Given the description of an element on the screen output the (x, y) to click on. 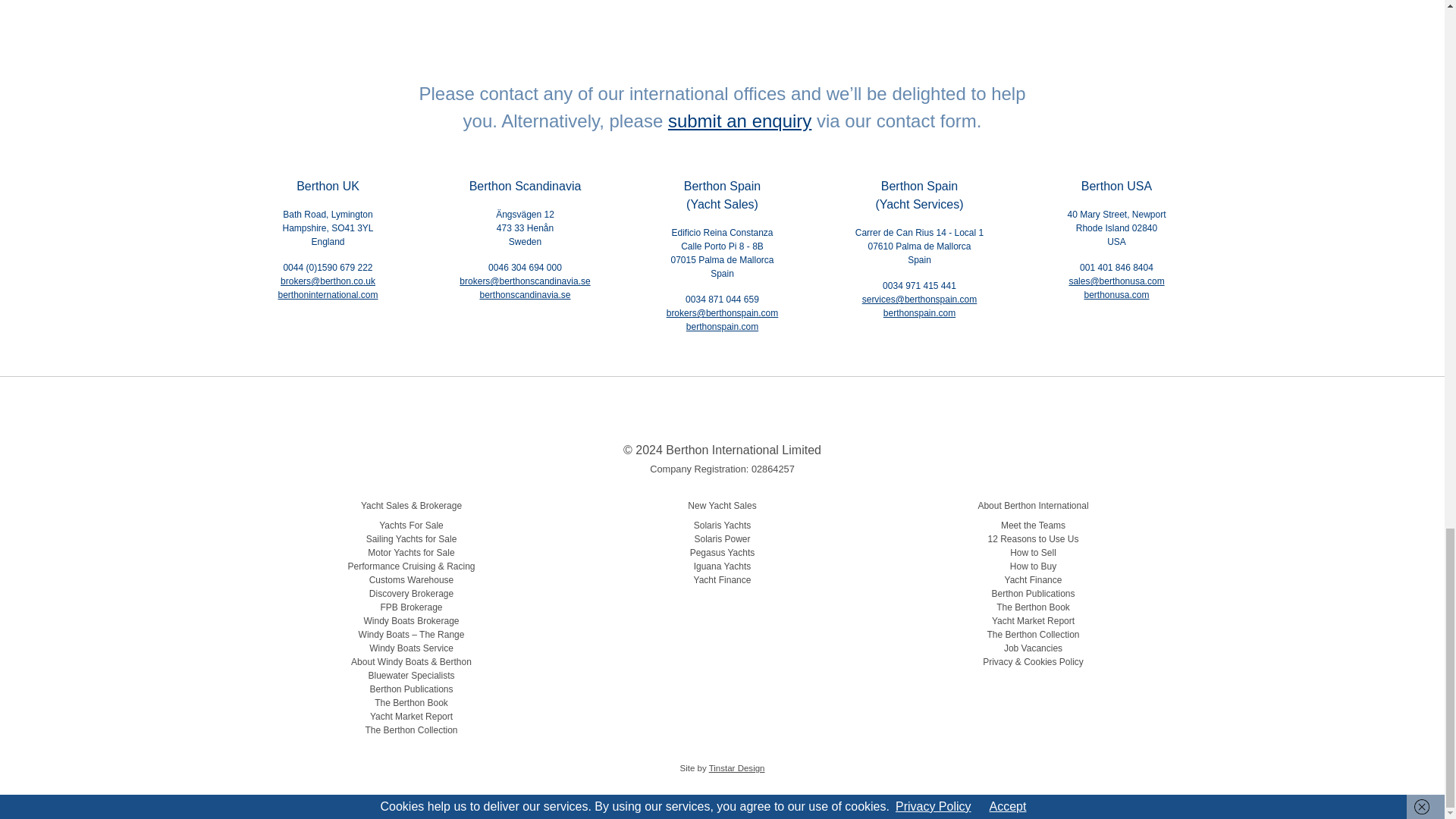
Follow Berthon International on Pinterest (772, 415)
Follow Berthon International on YouTube (807, 415)
Follow Berthon International on LinkedIn (671, 415)
Follow Berthon International on Twitter (738, 415)
Follow Berthon International on Facebook (637, 415)
Website Tinstar Design (737, 768)
Follow Berthon International on Instagram (705, 415)
